Given the description of an element on the screen output the (x, y) to click on. 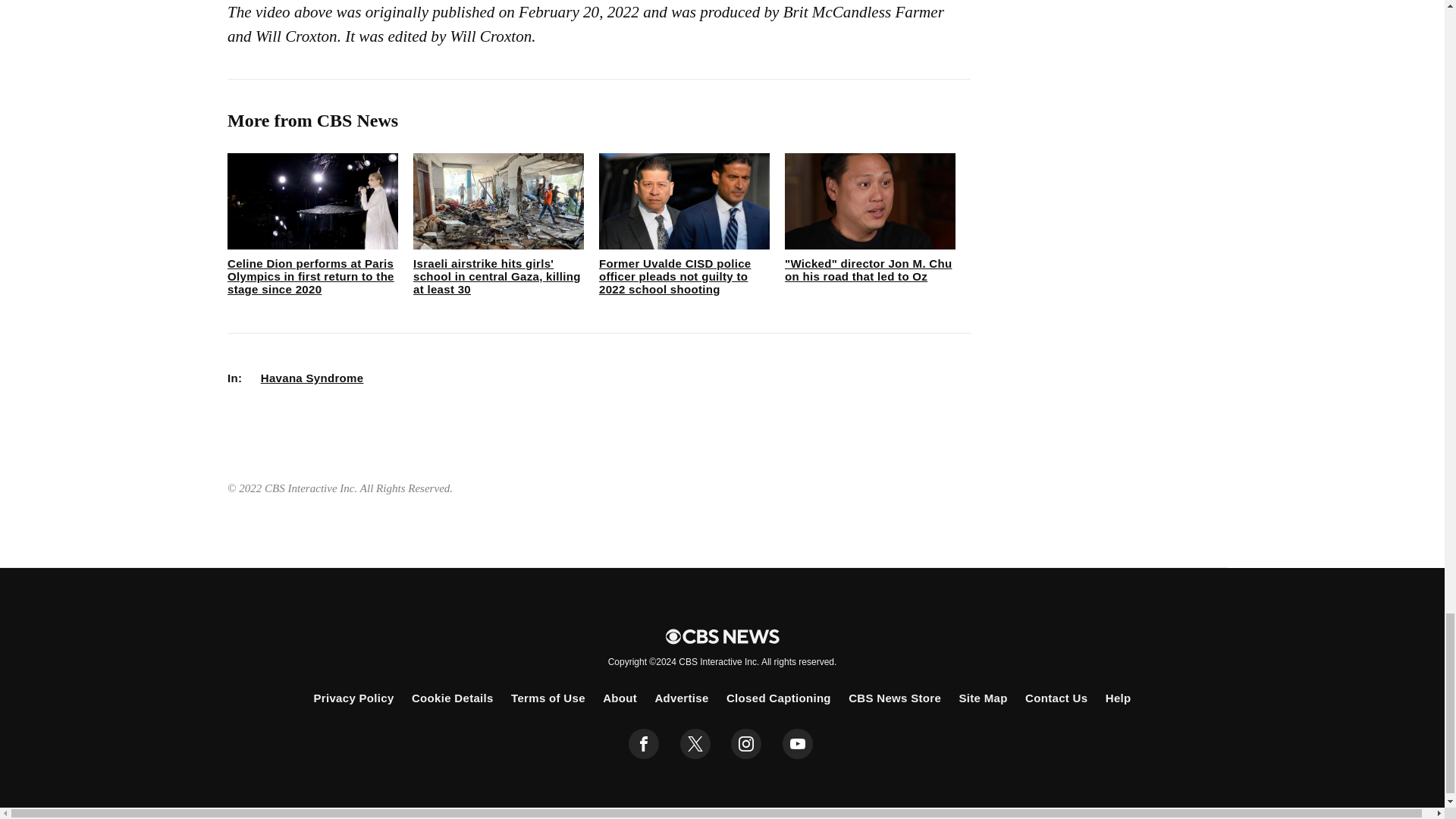
youtube (797, 743)
twitter (694, 743)
facebook (643, 743)
instagram (745, 743)
